Given the description of an element on the screen output the (x, y) to click on. 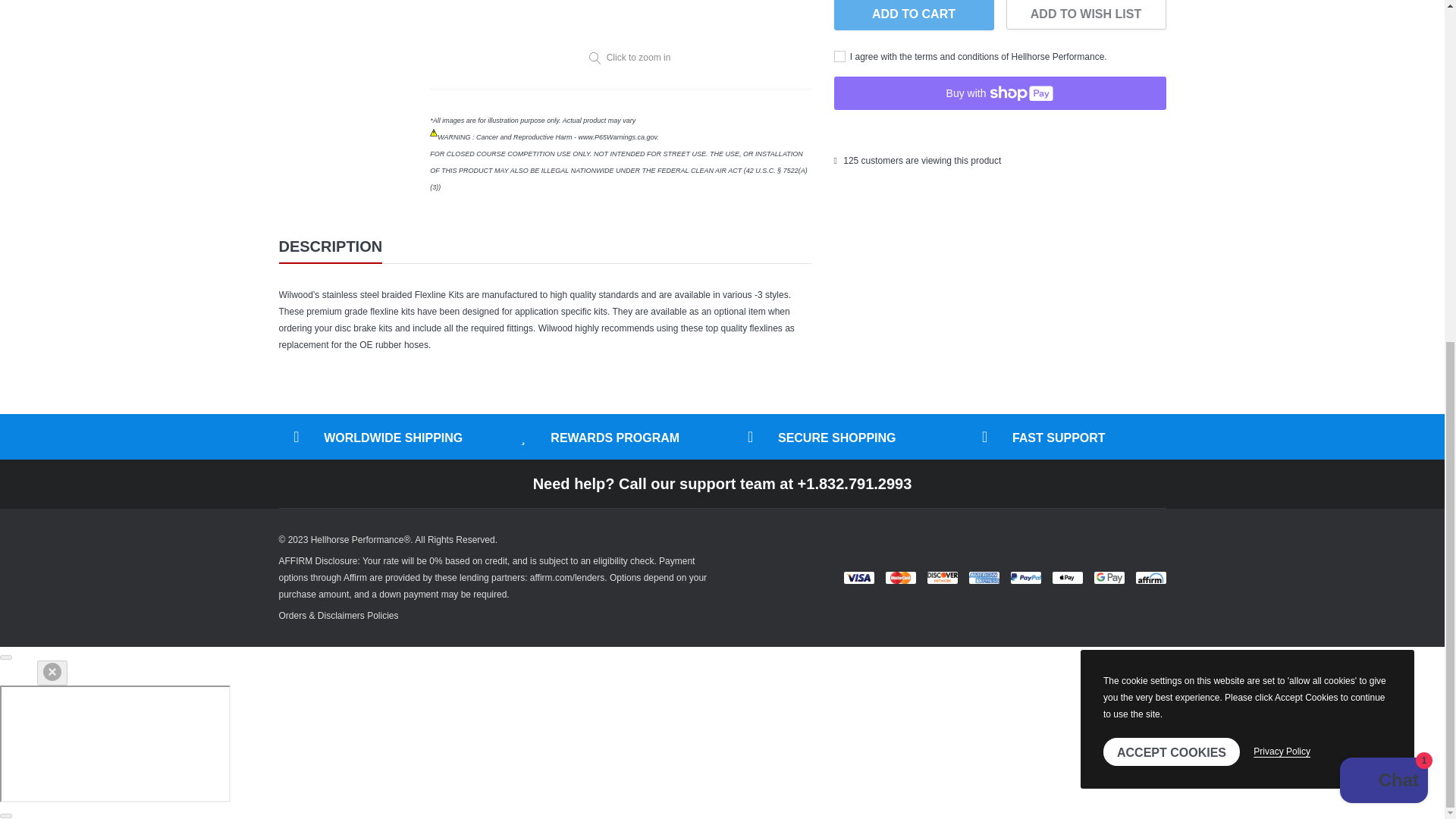
Shopify online store chat (1383, 200)
